Given the description of an element on the screen output the (x, y) to click on. 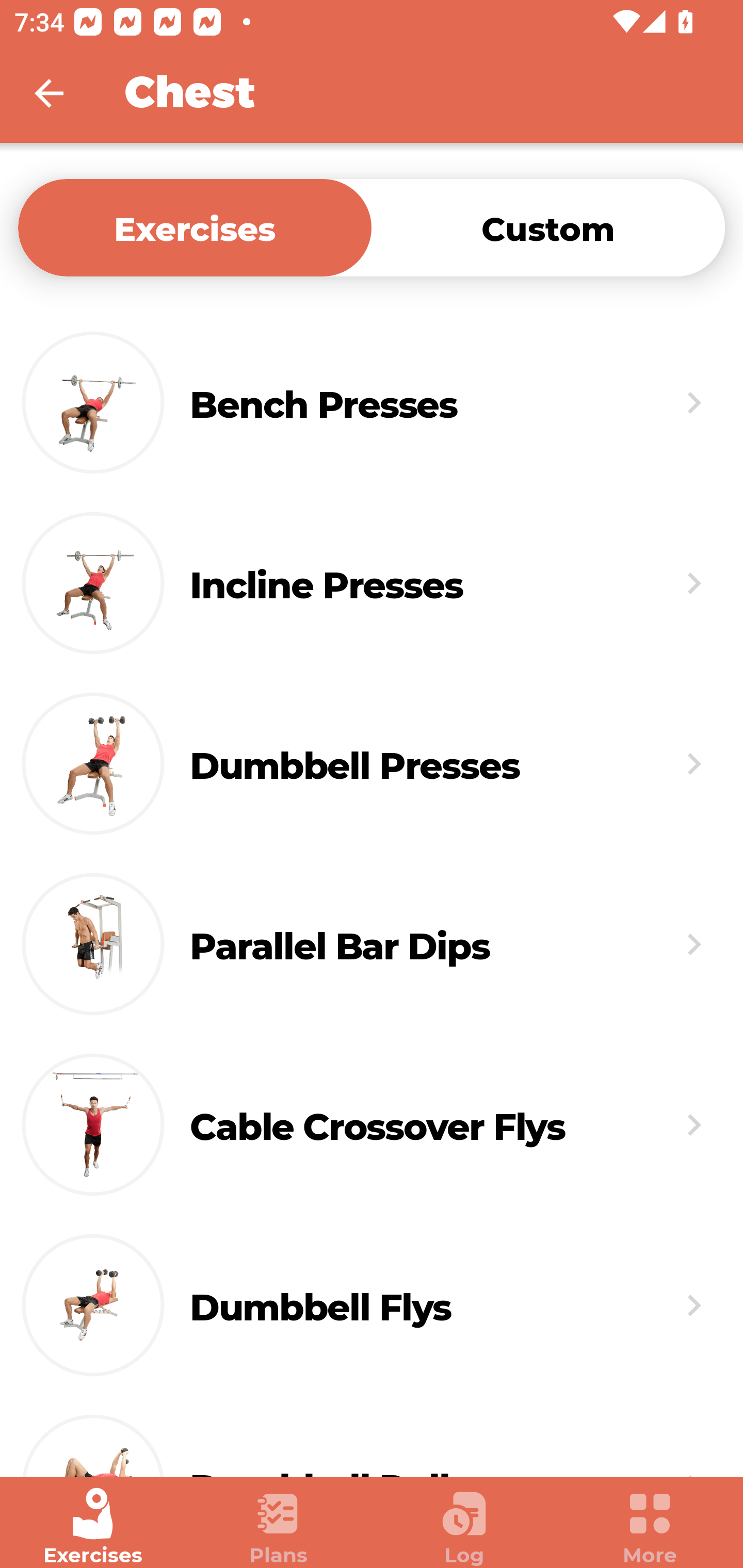
Back (62, 92)
Exercises (194, 226)
Custom (548, 226)
Exercises (92, 1527)
Plans (278, 1527)
Log (464, 1527)
More (650, 1527)
